Given the description of an element on the screen output the (x, y) to click on. 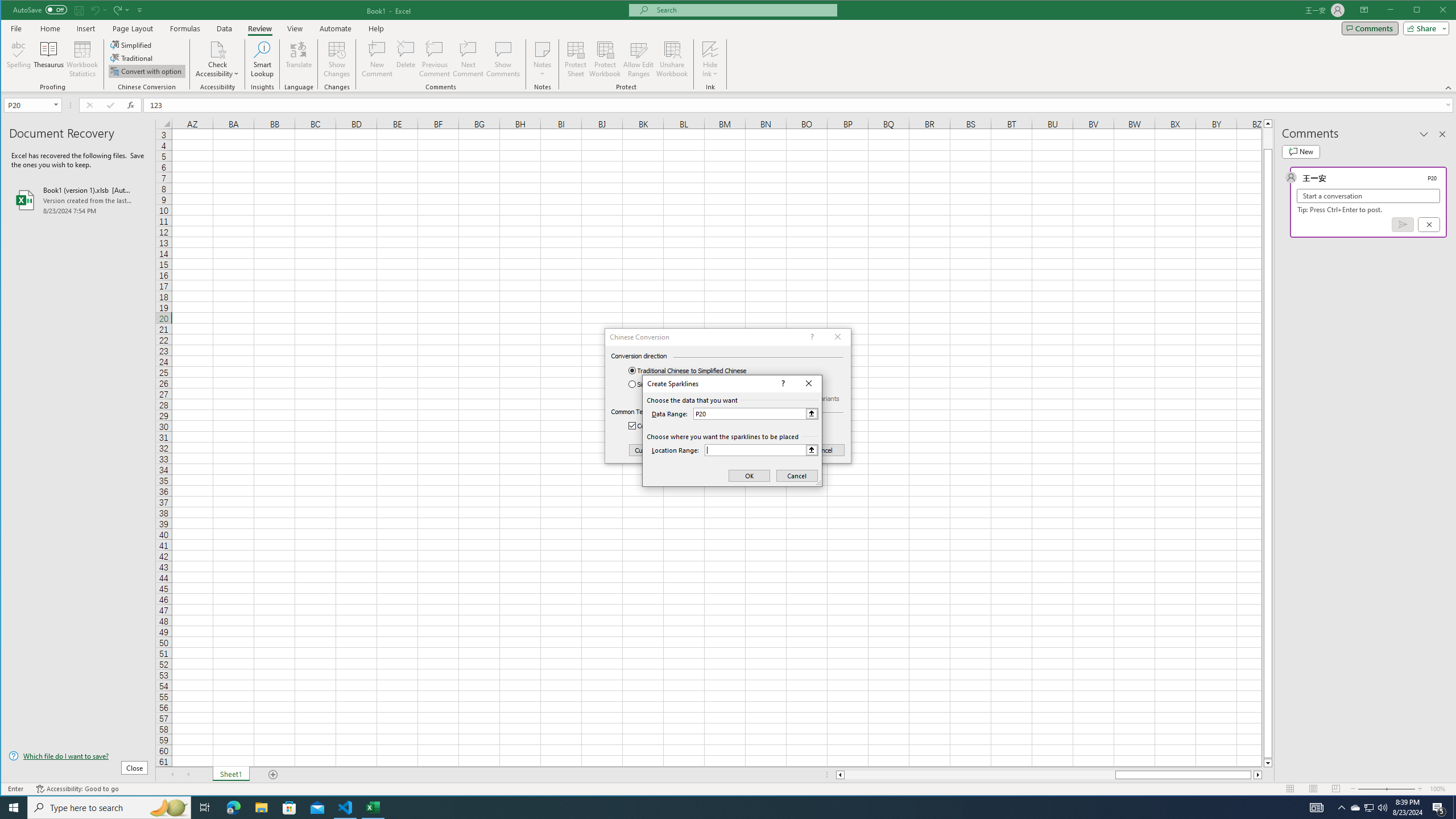
Allow Edit Ranges (638, 59)
Show Changes (335, 59)
AutomationID: 4105 (1316, 807)
Spelling... (18, 59)
